Given the description of an element on the screen output the (x, y) to click on. 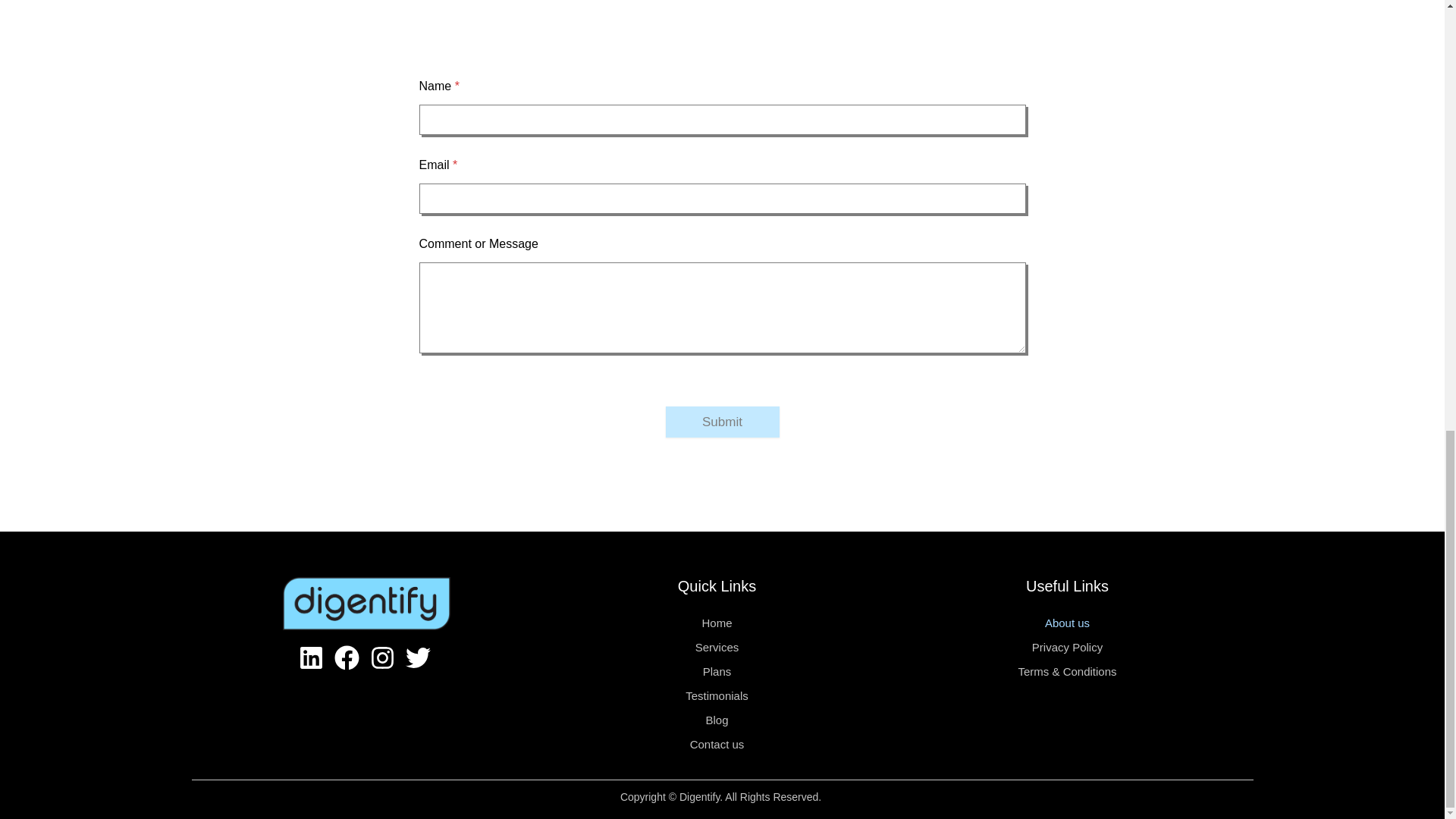
Blog (715, 720)
Privacy Policy (1066, 647)
Contact us (715, 744)
Home (715, 622)
About us (1066, 622)
Plans (715, 671)
Submit (721, 421)
Testimonials (715, 695)
Services (715, 647)
